Given the description of an element on the screen output the (x, y) to click on. 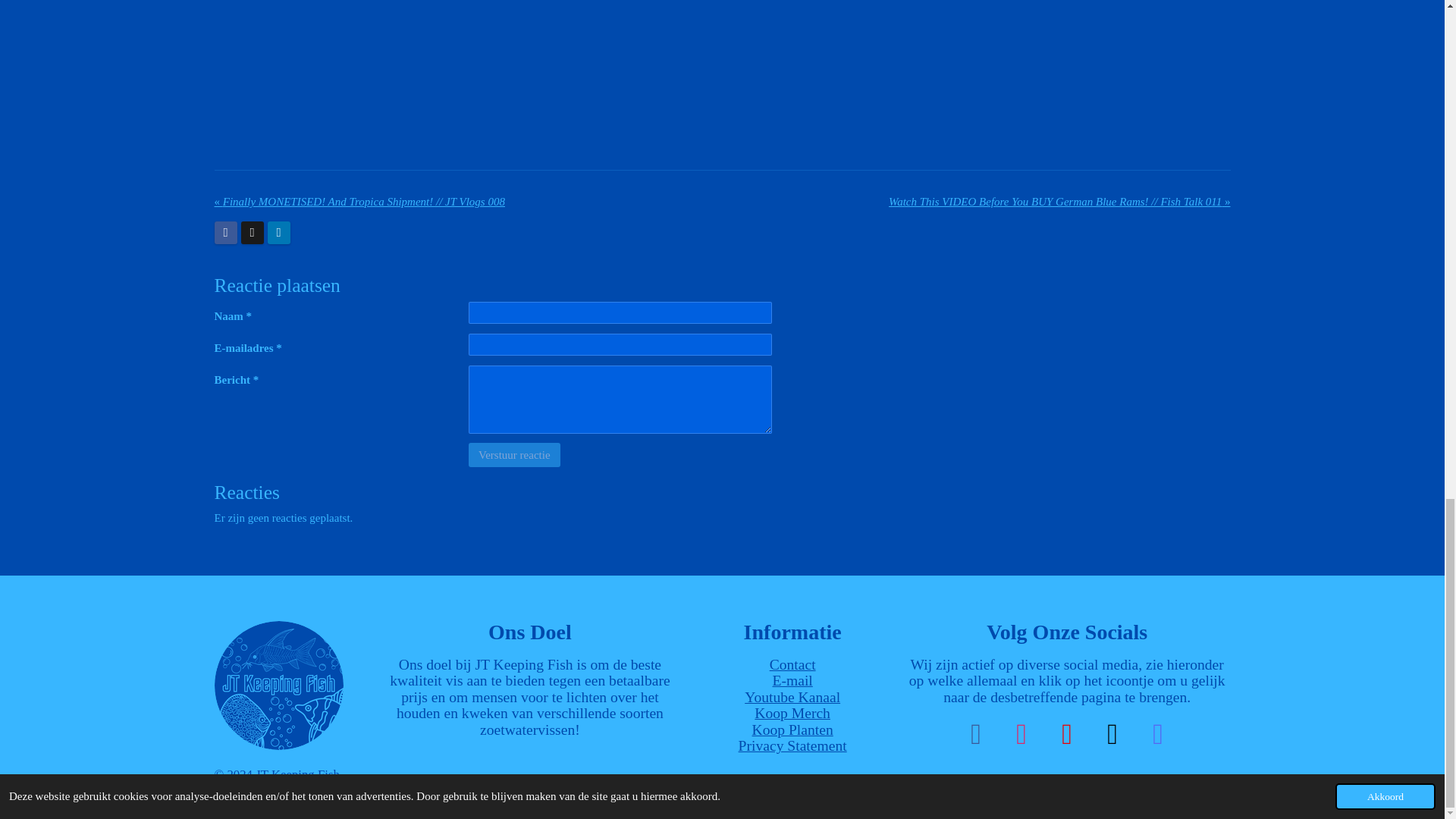
Koop Merch (791, 713)
Koop Planten (792, 729)
Contact (792, 664)
Privacy Statement (792, 745)
Youtube Kanaal (792, 697)
Verstuur reactie (514, 454)
E-mail (791, 680)
